Given the description of an element on the screen output the (x, y) to click on. 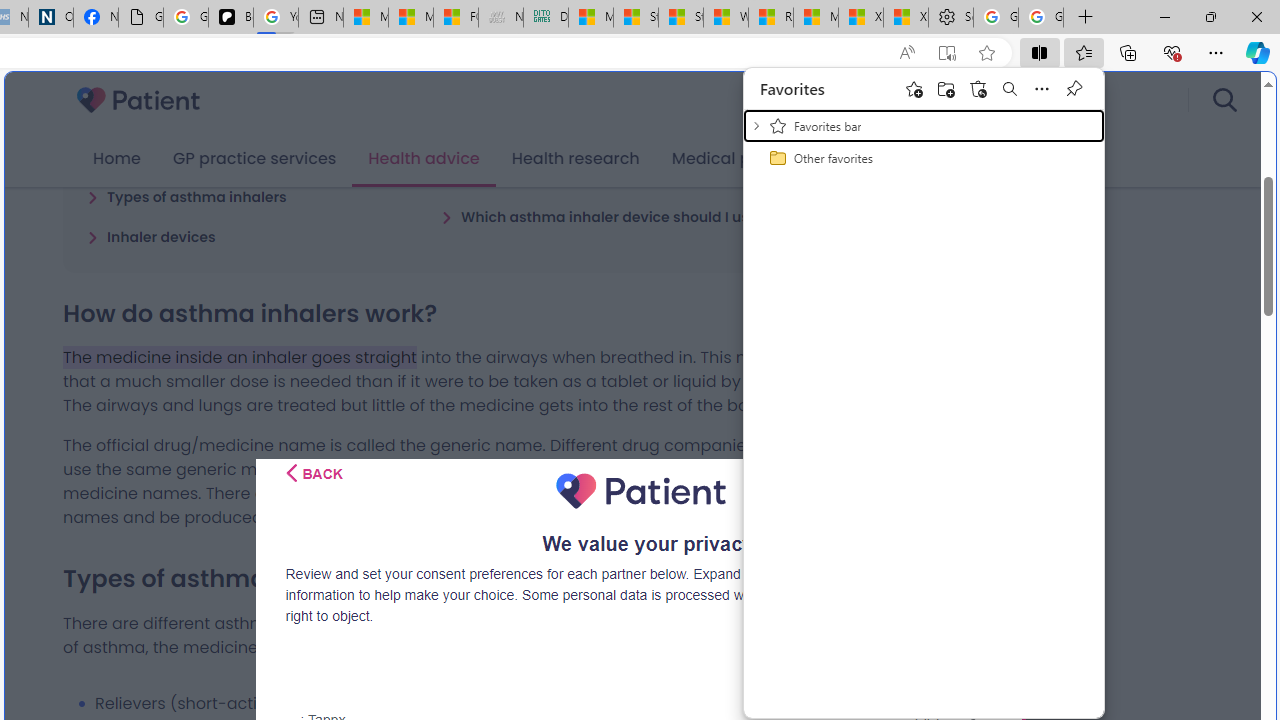
How do asthma inhalers work? (206, 156)
Inhaler devices (151, 236)
Pin favorites (1073, 88)
Add this page to favorites (913, 88)
Class: css-i5klq5 (291, 473)
search (1223, 99)
